Given the description of an element on the screen output the (x, y) to click on. 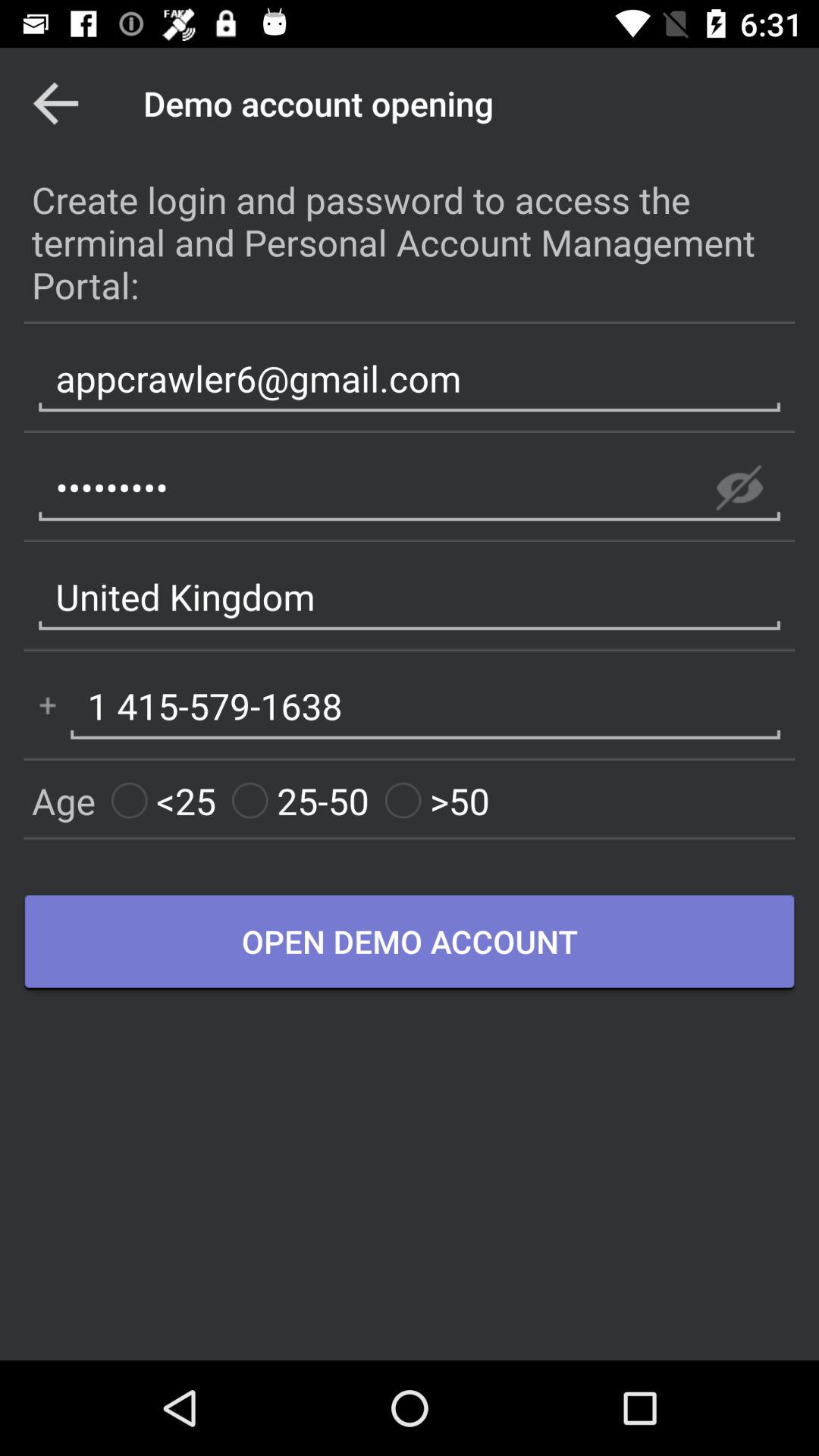
choose the item above the create login and item (55, 103)
